Given the description of an element on the screen output the (x, y) to click on. 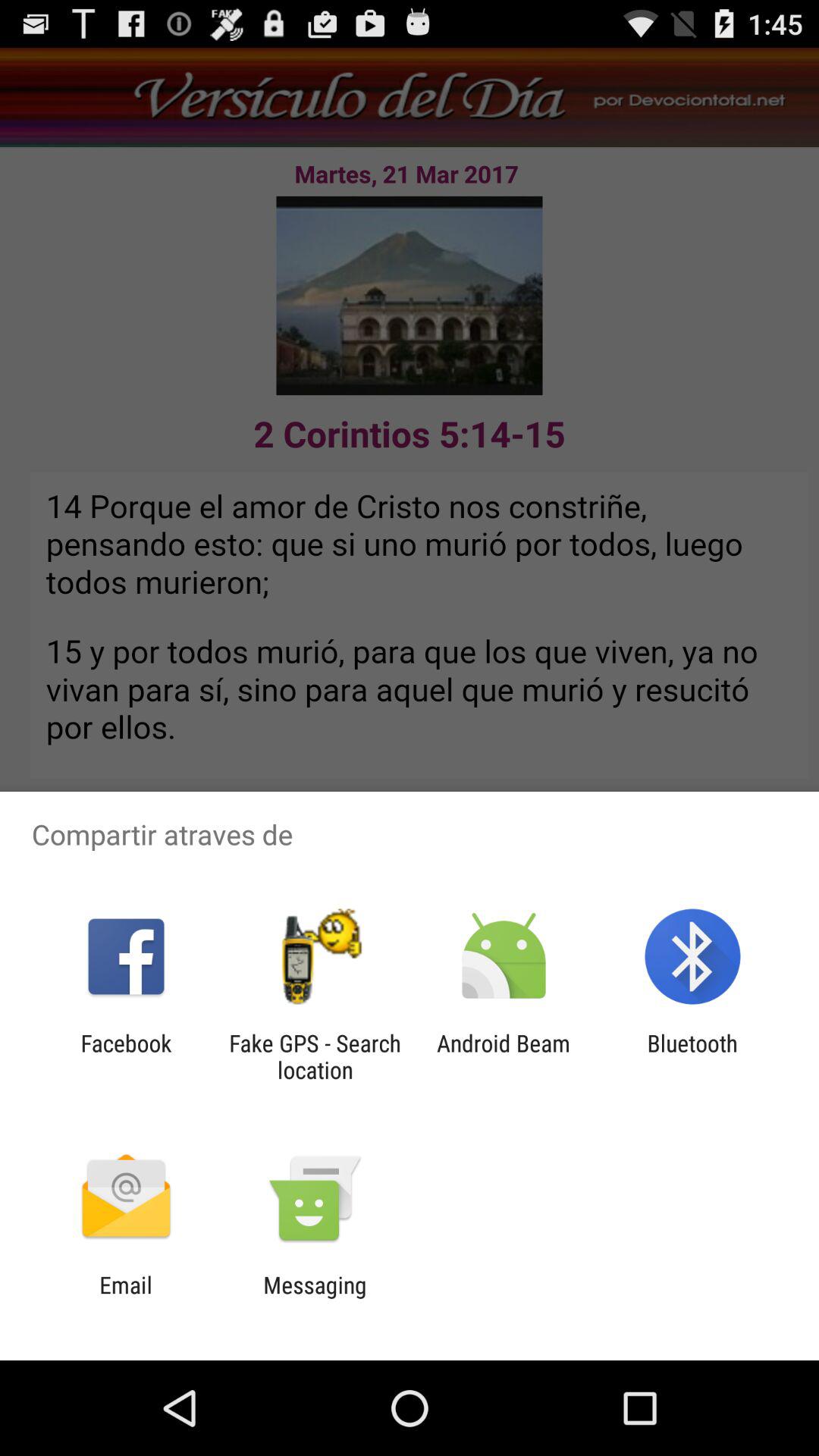
click the fake gps search item (314, 1056)
